Given the description of an element on the screen output the (x, y) to click on. 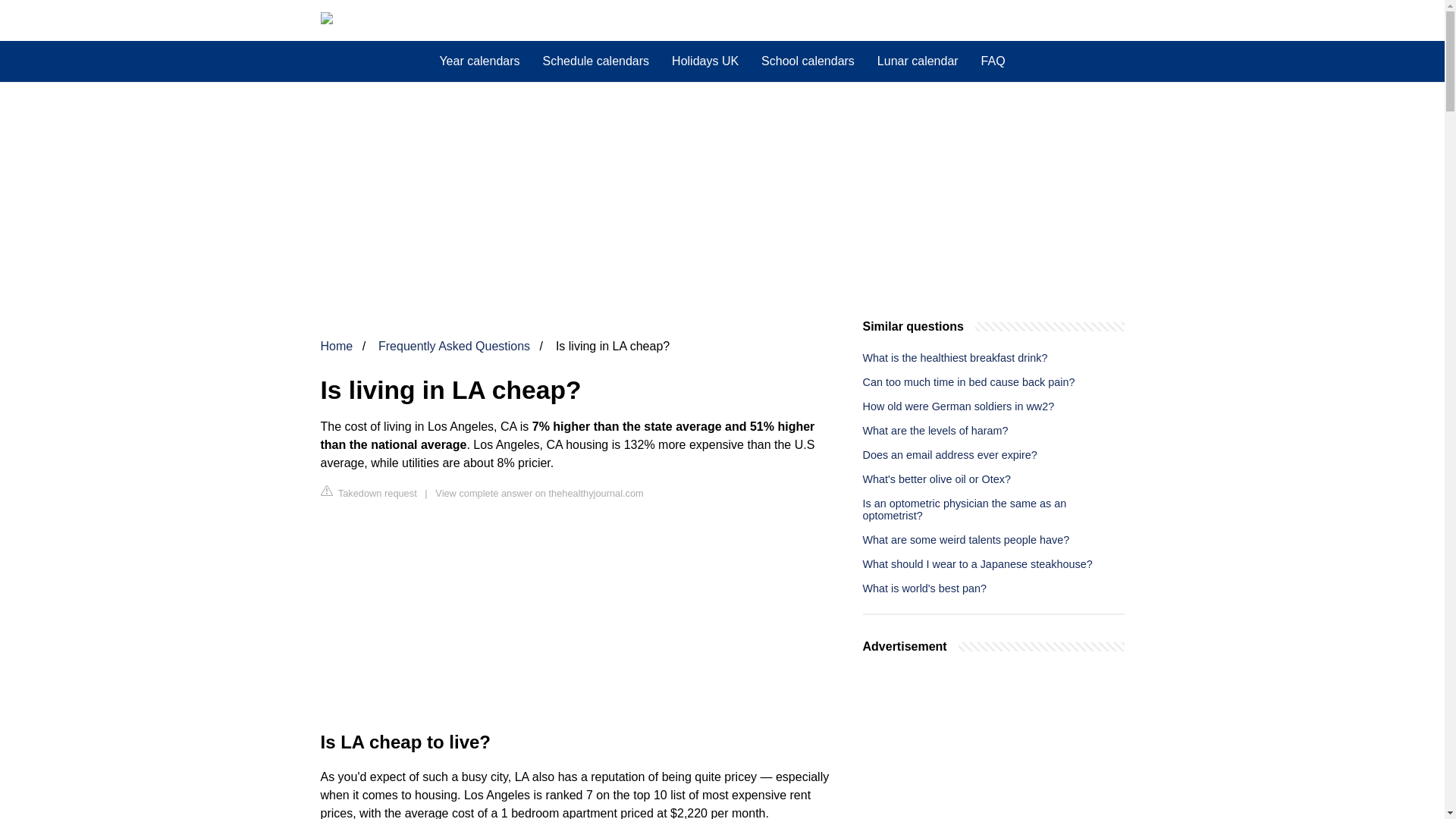
Frequently Asked Questions (453, 345)
Takedown request (368, 492)
View complete answer on thehealthyjournal.com (539, 492)
Schedule calendars (596, 60)
Year calendars (479, 60)
School calendars (807, 60)
Holidays UK (705, 60)
Lunar calendar (917, 60)
FAQ (992, 60)
Home (336, 345)
